Given the description of an element on the screen output the (x, y) to click on. 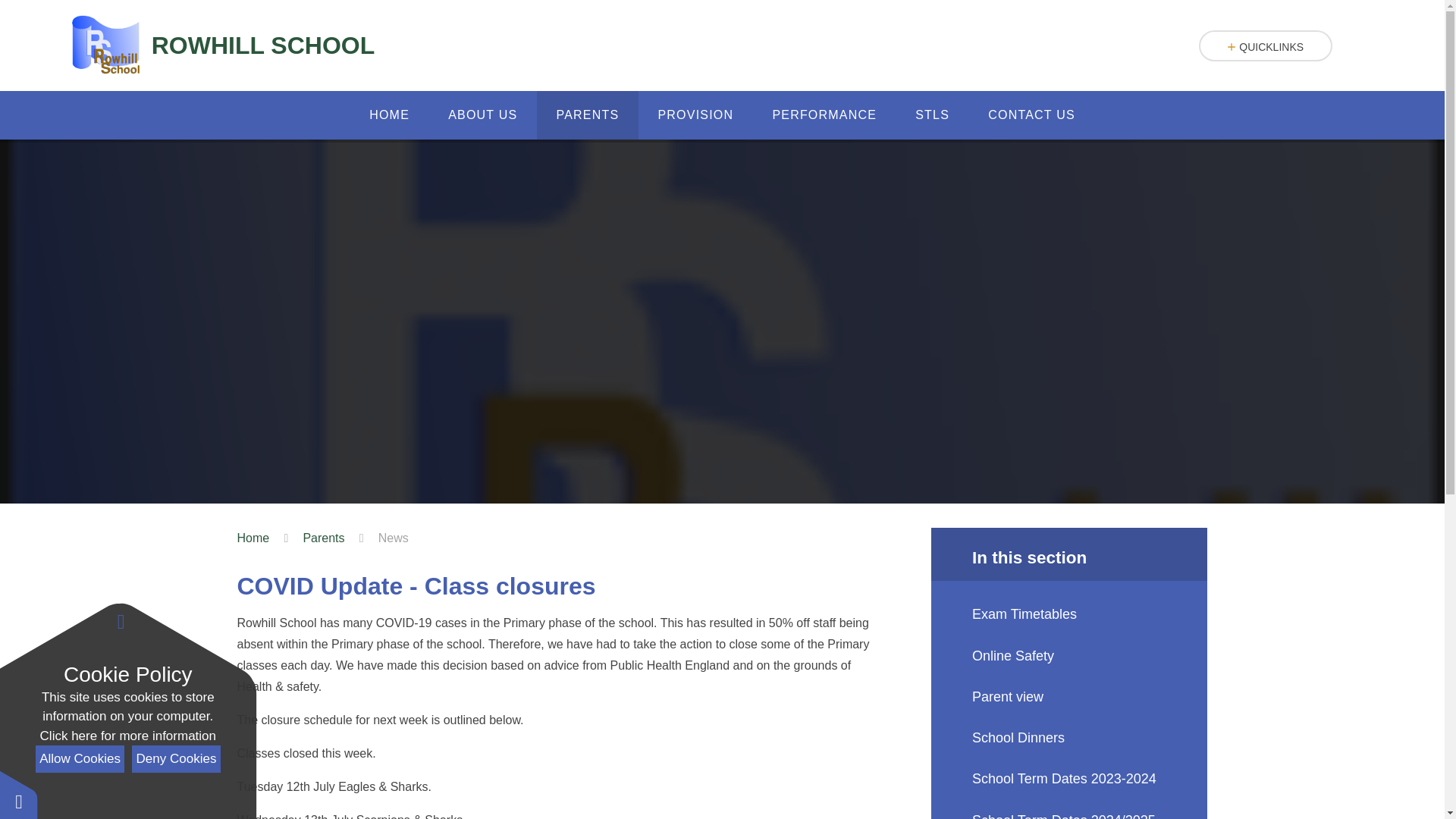
Deny Cookies (175, 759)
Allow Cookies (78, 759)
See cookie policy (127, 736)
ABOUT US (483, 114)
HOME (389, 114)
PARENTS (588, 114)
ROWHILL SCHOOL (222, 45)
